Given the description of an element on the screen output the (x, y) to click on. 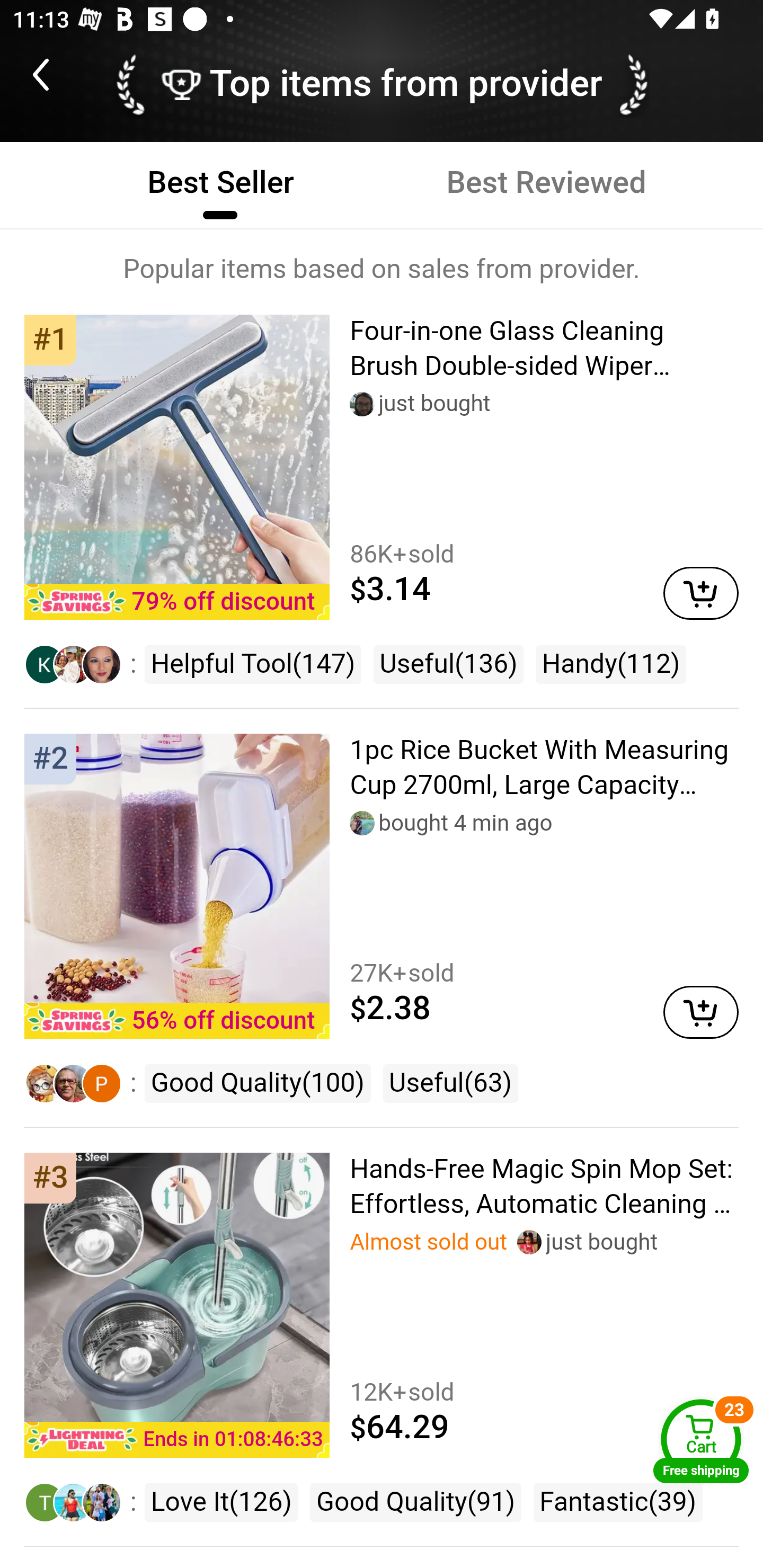
Best Seller (220, 183)
Best Reviewed (546, 183)
Cart Free shipping Cart (701, 1440)
